Given the description of an element on the screen output the (x, y) to click on. 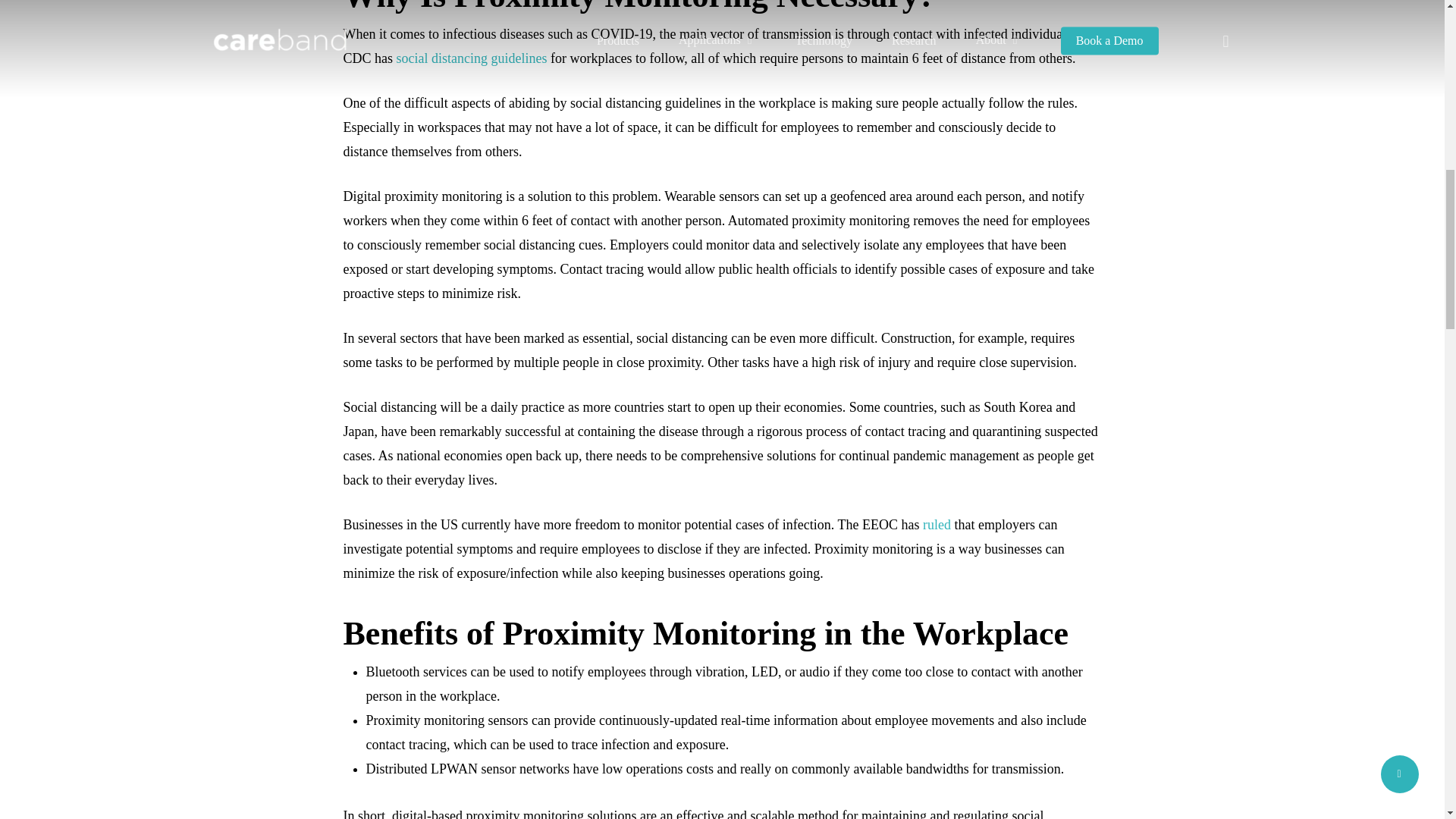
ruled (936, 524)
social distancing guidelines (471, 58)
